Given the description of an element on the screen output the (x, y) to click on. 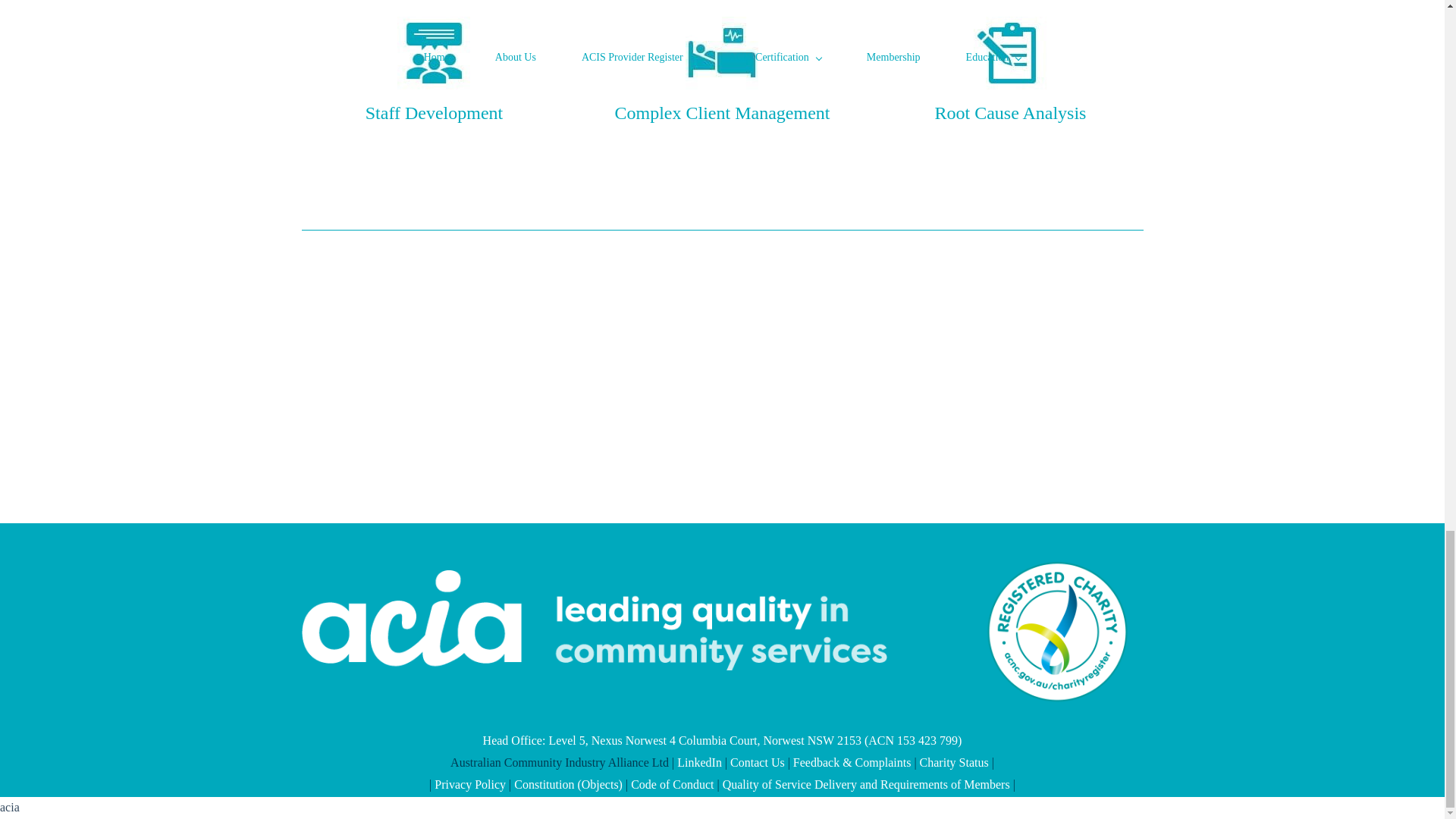
Privacy Policy (469, 784)
inkedIn (703, 762)
Contact Us (757, 762)
Charity Status (954, 762)
Contact Us (757, 762)
Code of Conduct (671, 784)
Constitution (544, 784)
Quality of Service Delivery and Requirements of Members (866, 784)
Charity Status (954, 762)
